Given the description of an element on the screen output the (x, y) to click on. 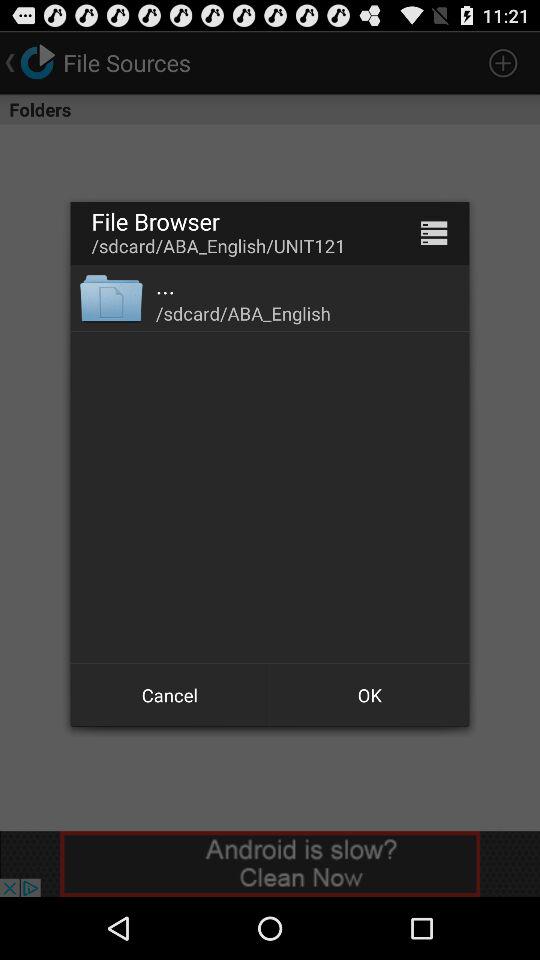
turn on the app next to /sdcard/aba_english/unit121 (433, 232)
